Given the description of an element on the screen output the (x, y) to click on. 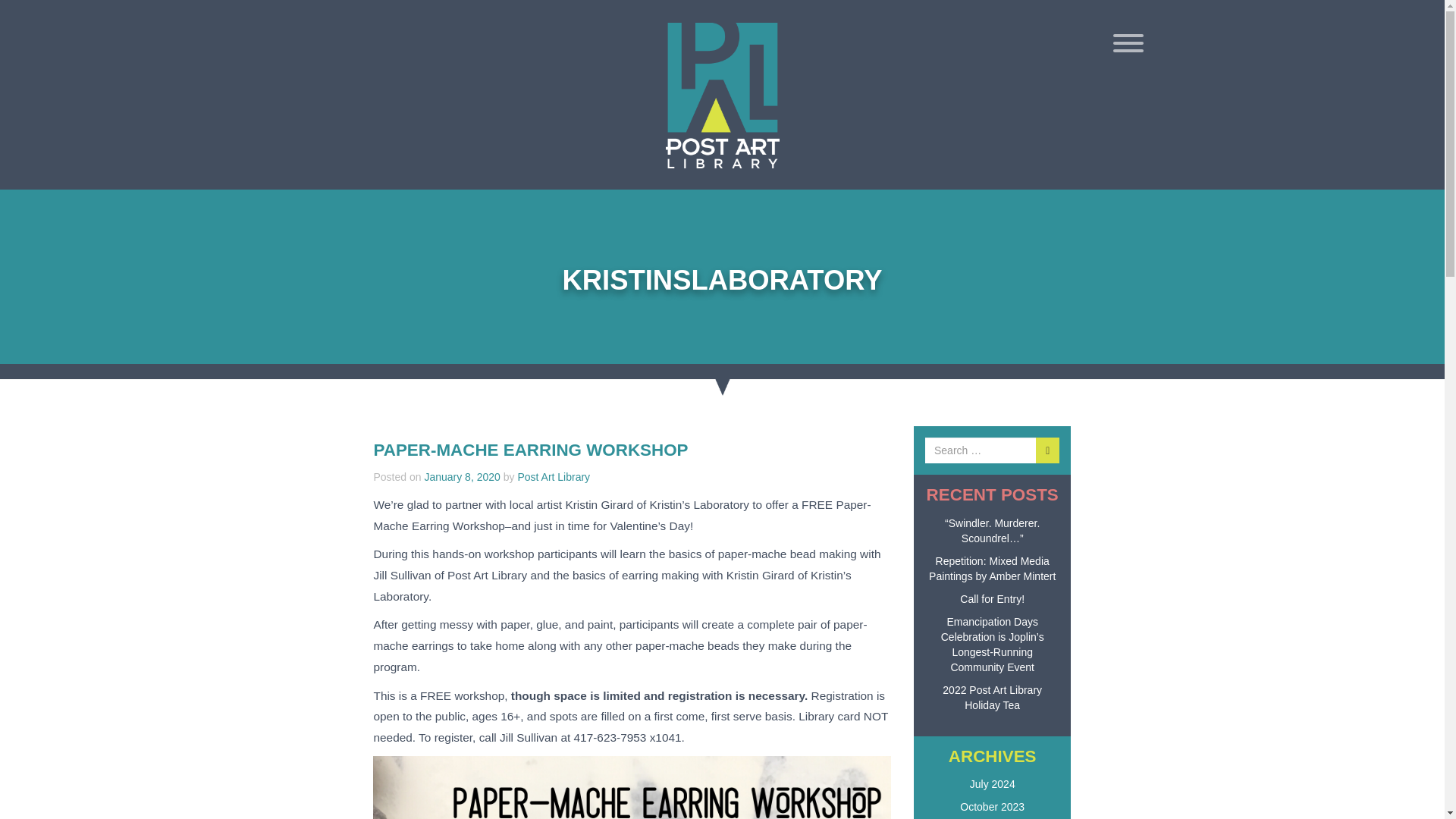
January 8, 2020 (461, 476)
PAPER-MACHE EARRING WORKSHOP (529, 449)
Repetition: Mixed Media Paintings by Amber Mintert (991, 571)
Post Art Library (552, 476)
July 2024 (991, 786)
2022 Post Art Library Holiday Tea (991, 700)
Call for Entry! (991, 601)
October 2023 (991, 809)
